Given the description of an element on the screen output the (x, y) to click on. 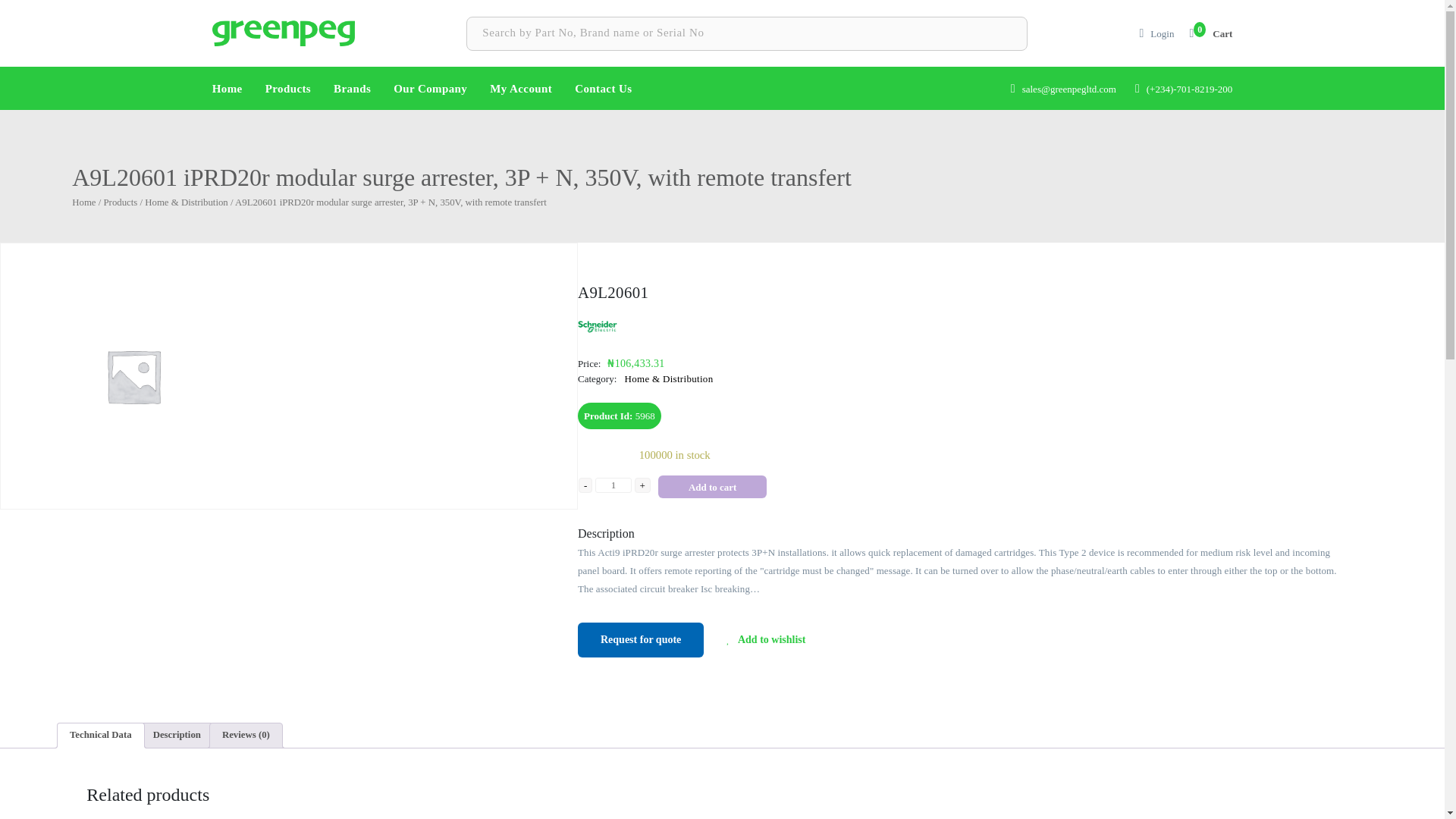
1 (612, 485)
0 Cart (1210, 33)
Login (1161, 33)
Qty (612, 485)
